Given the description of an element on the screen output the (x, y) to click on. 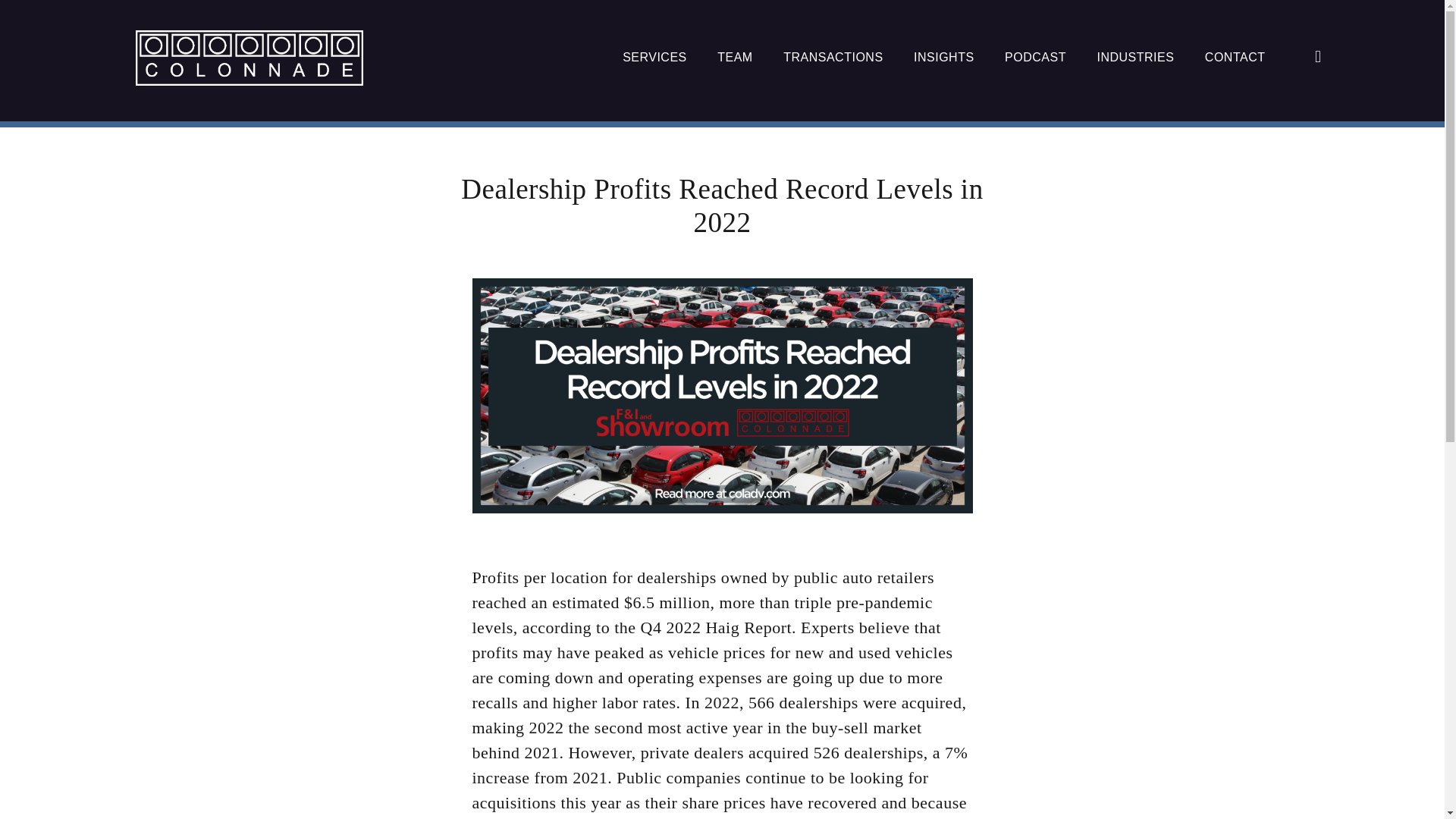
INDUSTRIES (1134, 57)
PODCAST (1034, 57)
SERVICES (655, 57)
CONTACT (1235, 57)
TEAM (734, 57)
Colonnade Logo White (248, 57)
Dealership-Profits-Reached-Record-Levels-in-2022 (721, 395)
INSIGHTS (944, 57)
TRANSACTIONS (832, 57)
